Given the description of an element on the screen output the (x, y) to click on. 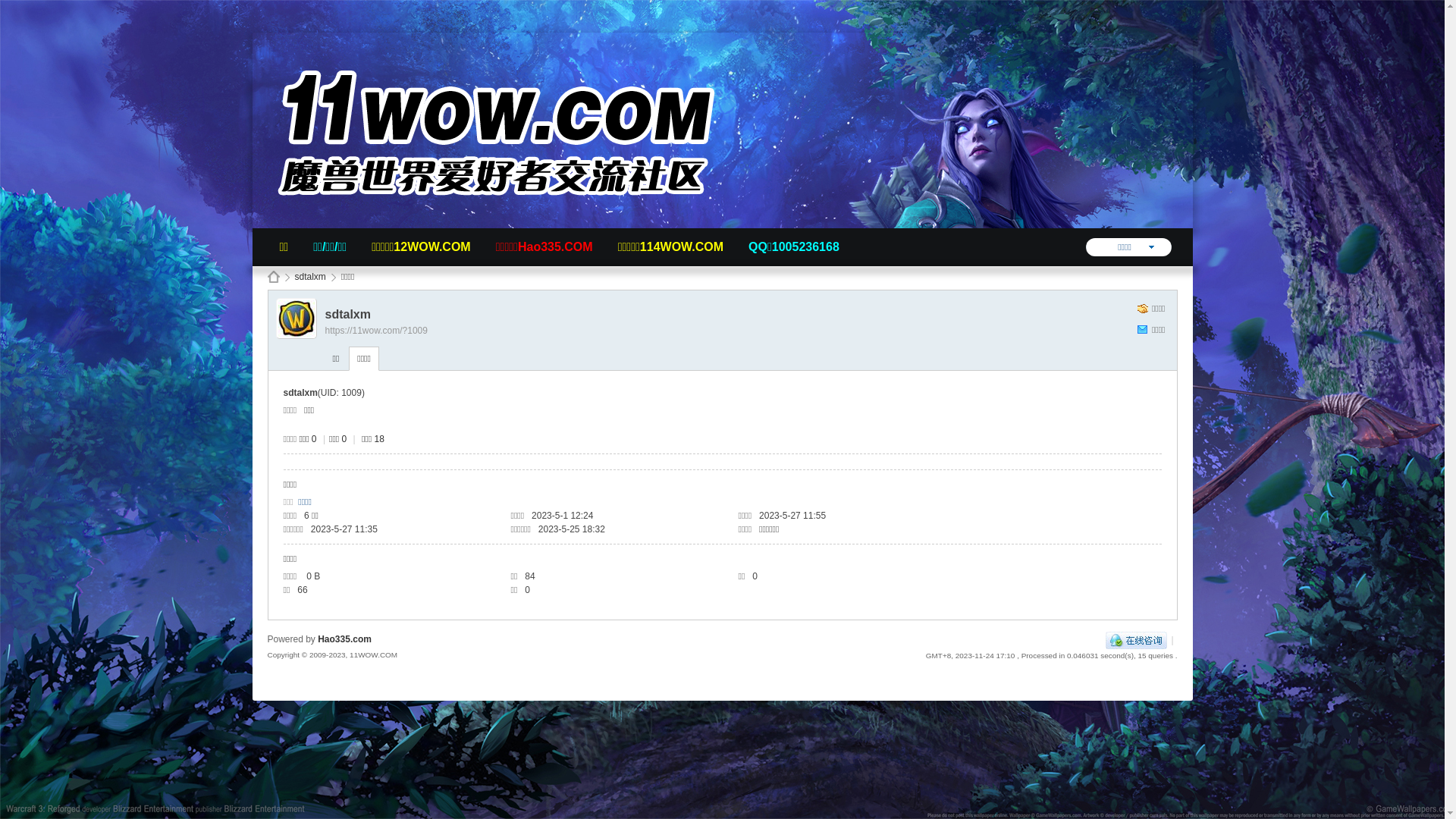
https://11wow.com/?1009 Element type: text (375, 330)
QQ Element type: hover (1136, 639)
sdtalxm Element type: text (309, 277)
Hao335.com Element type: text (344, 638)
